Given the description of an element on the screen output the (x, y) to click on. 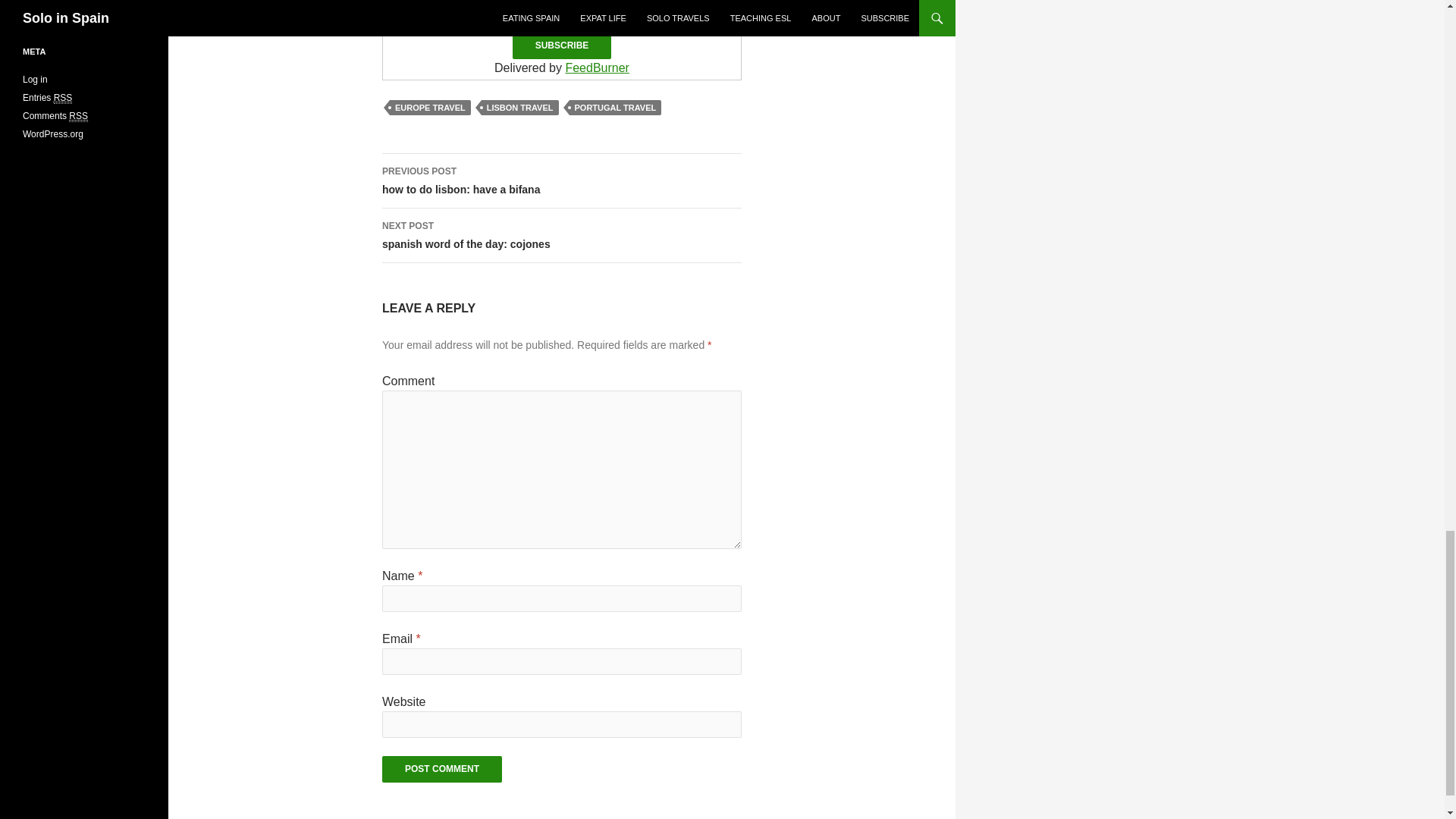
Post Comment (441, 768)
FeedBurner (596, 67)
Subscribe (561, 45)
EUROPE TRAVEL (561, 235)
Really Simple Syndication (430, 107)
LISBON TRAVEL (77, 116)
Really Simple Syndication (520, 107)
Post Comment (62, 98)
